Given the description of an element on the screen output the (x, y) to click on. 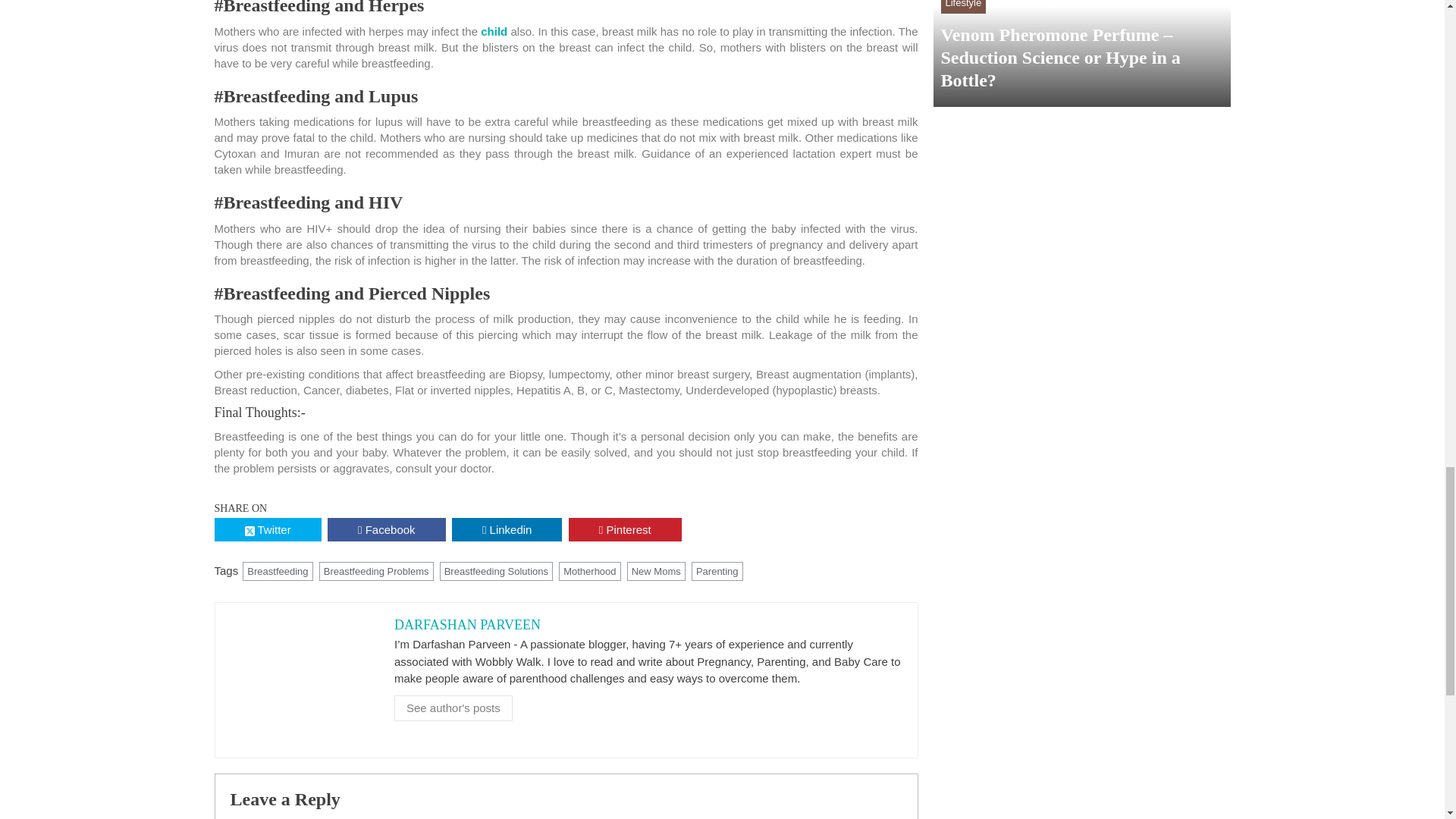
Linkedin (506, 529)
Twitter (267, 529)
child (493, 31)
Pinterest (625, 529)
Motherhood (589, 571)
Breastfeeding (278, 571)
Breastfeeding Problems (375, 571)
New Moms (656, 571)
Facebook (386, 529)
Breastfeeding Solutions (496, 571)
